Given the description of an element on the screen output the (x, y) to click on. 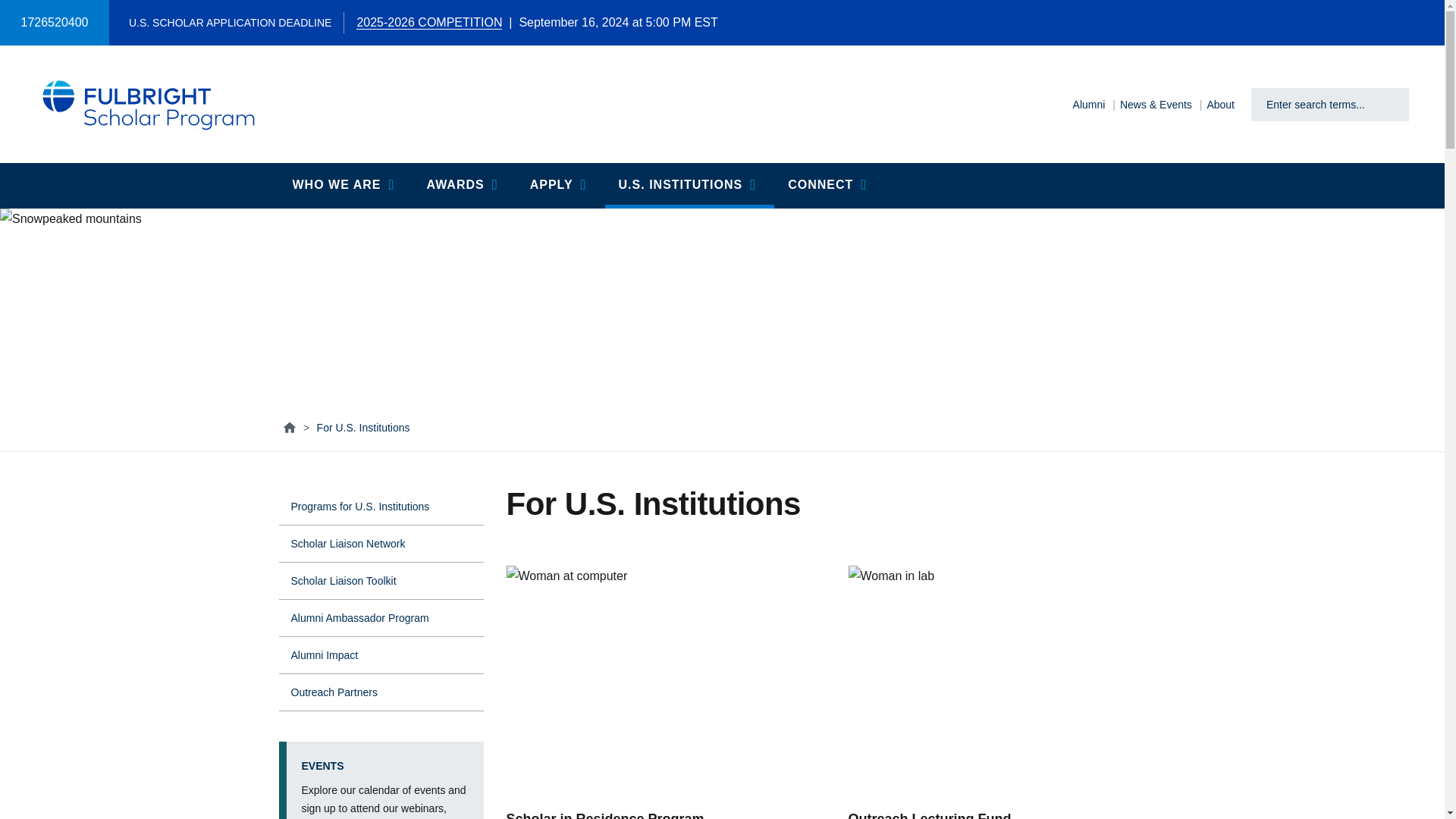
Skip to main content (8, 9)
About (1220, 105)
AWARDS (463, 185)
Enter the terms you wish to search for. (1317, 104)
Home Icon Created with Sketch. (288, 427)
Search (1391, 104)
U.S. INSTITUTIONS (689, 185)
Alumni (1089, 105)
Search (1391, 104)
2025-2026 COMPETITION (429, 22)
